Given the description of an element on the screen output the (x, y) to click on. 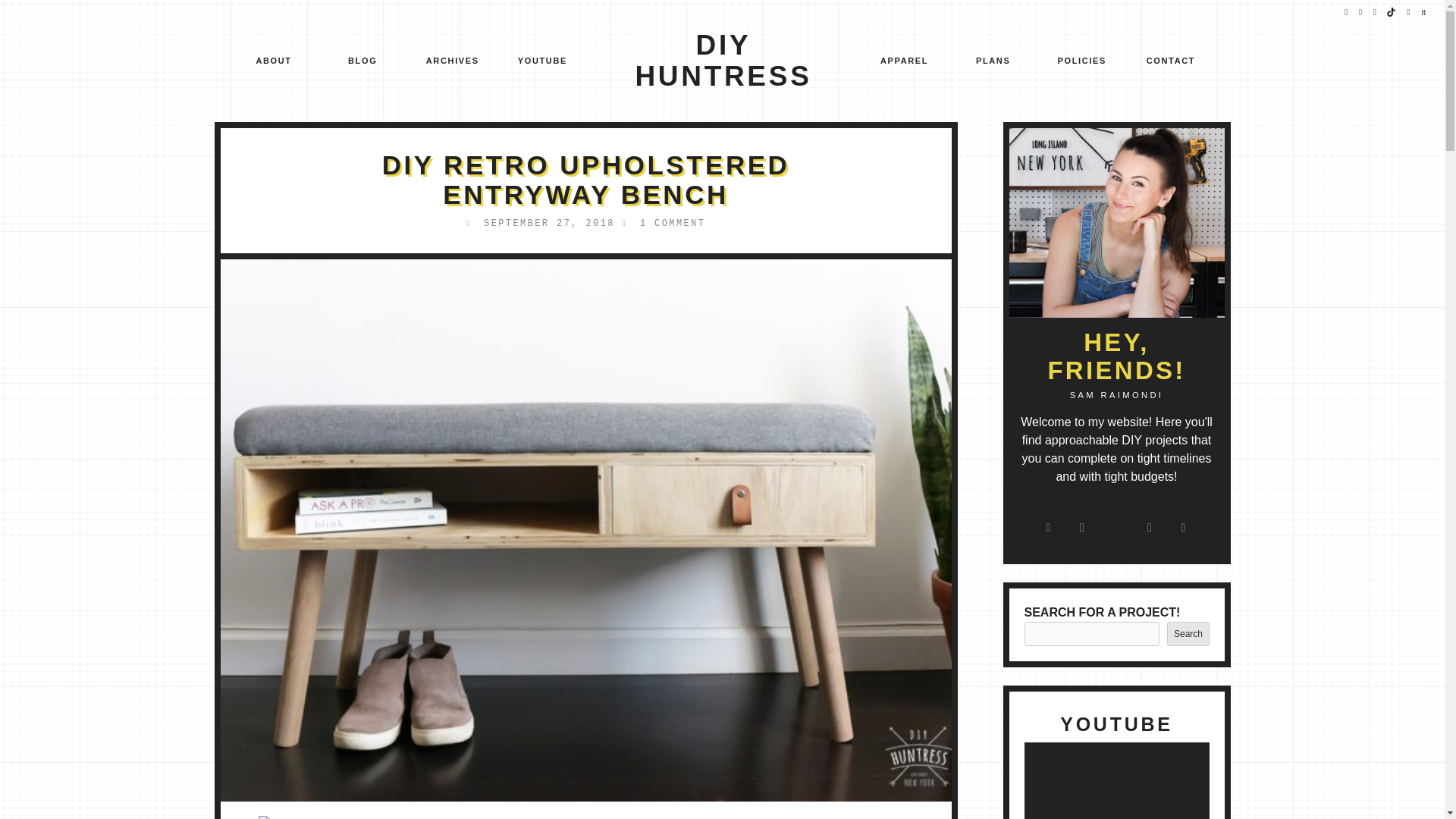
tiktok icon (1391, 12)
ABOUT (273, 62)
POLICIES (1082, 62)
APPAREL (904, 62)
DIY HUNTRESS (723, 60)
ARCHIVES (452, 62)
1 COMMENT (672, 223)
BLOG (362, 62)
SEPTEMBER 27, 2018 (548, 223)
CONTACT (1171, 62)
